Given the description of an element on the screen output the (x, y) to click on. 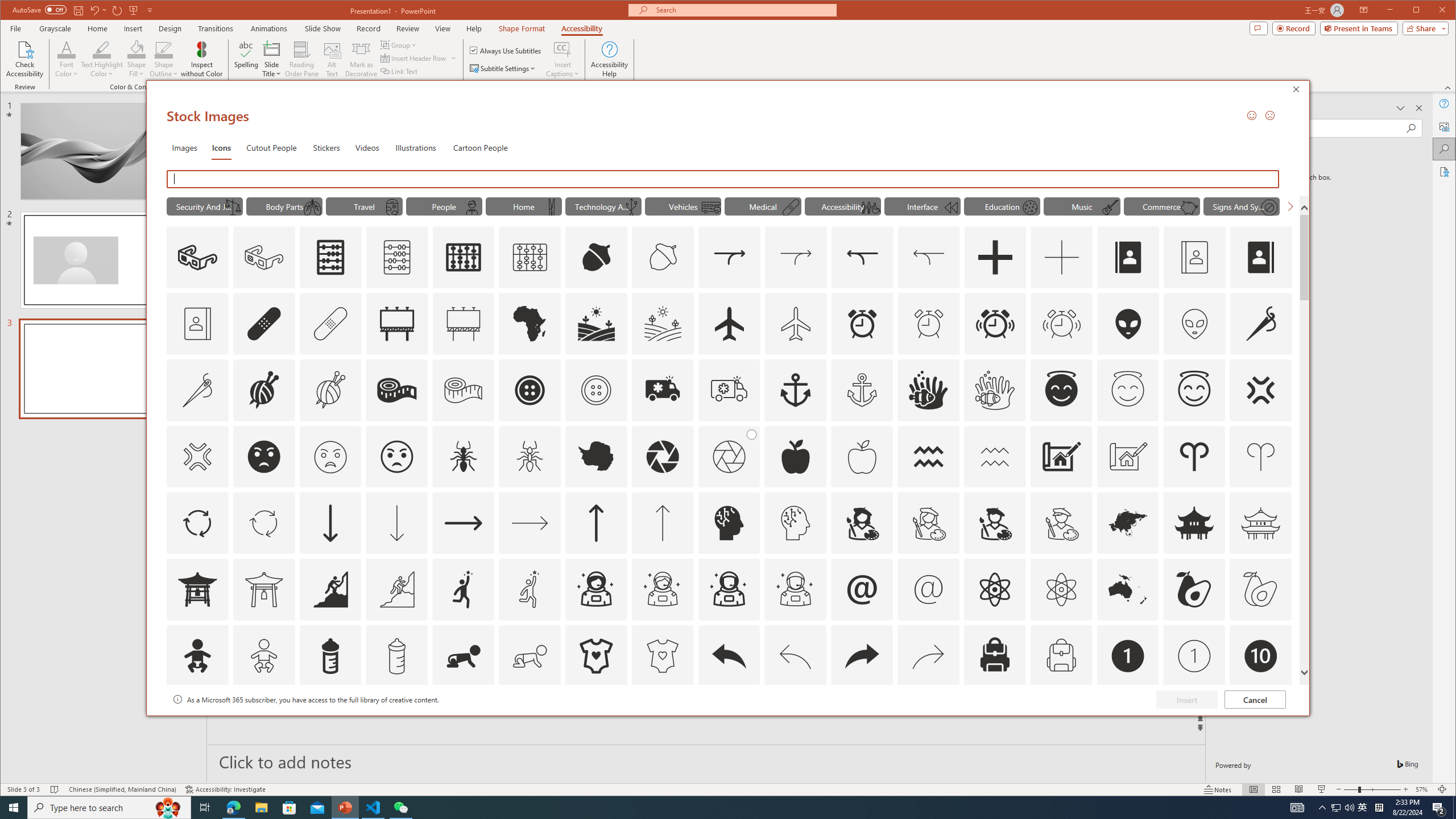
AutomationID: Icons_At (861, 589)
AutomationID: Icons_Apple (795, 456)
AutomationID: Icons_AnemoneAndClownfish_M (994, 389)
AutomationID: Icons_Aspiration1 (462, 589)
Stickers (326, 147)
AutomationID: Icons_ArrowRight (462, 522)
Collapse the Ribbon (1448, 87)
AutomationID: Icons_ArrowUp_M (662, 522)
